Given the description of an element on the screen output the (x, y) to click on. 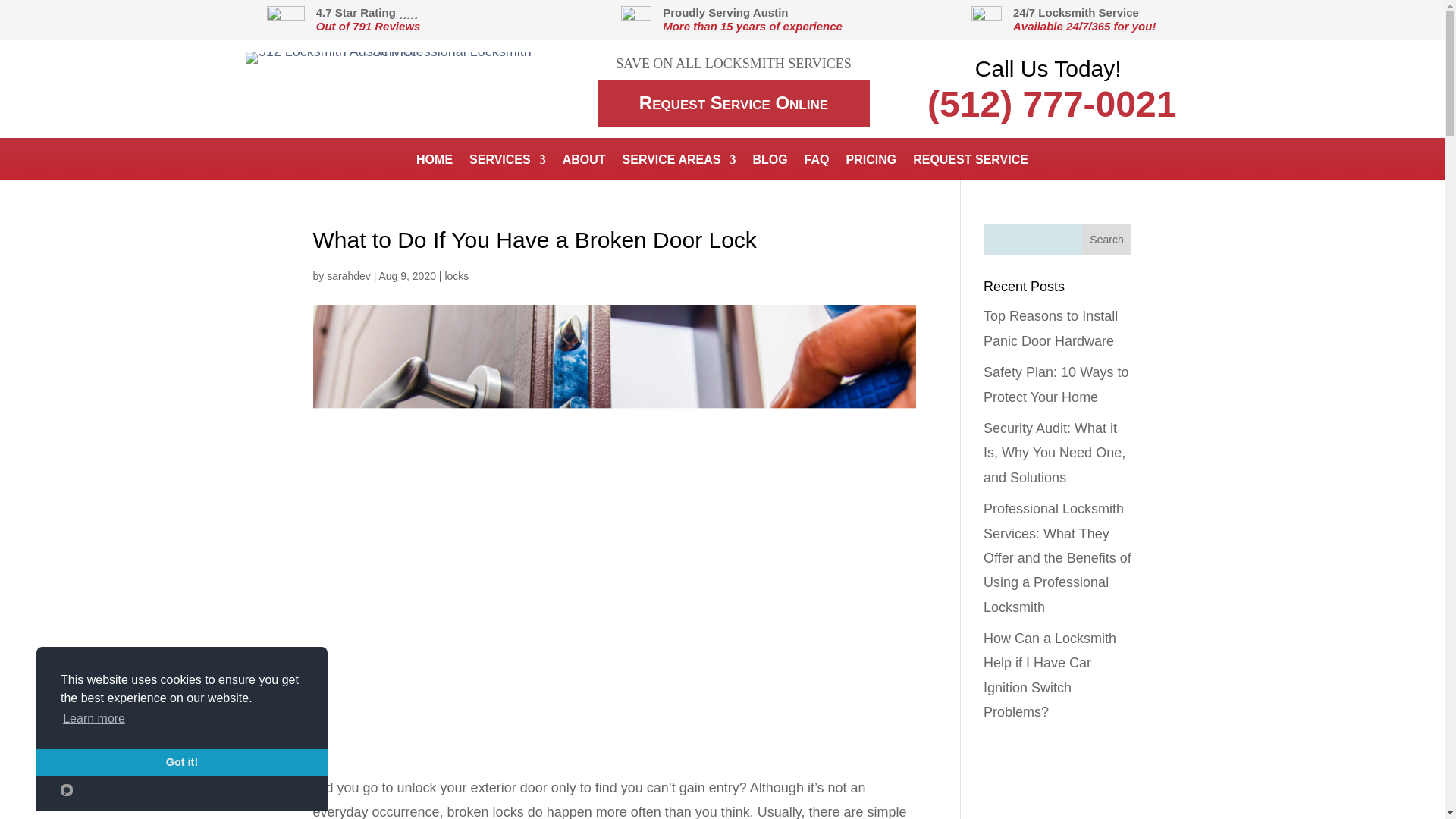
HOME (434, 162)
SERVICES (507, 162)
SERVICE AREAS (679, 162)
Search (1106, 239)
ABOUT (583, 162)
Request Service Online (732, 103)
Posts by sarahdev (348, 275)
